Given the description of an element on the screen output the (x, y) to click on. 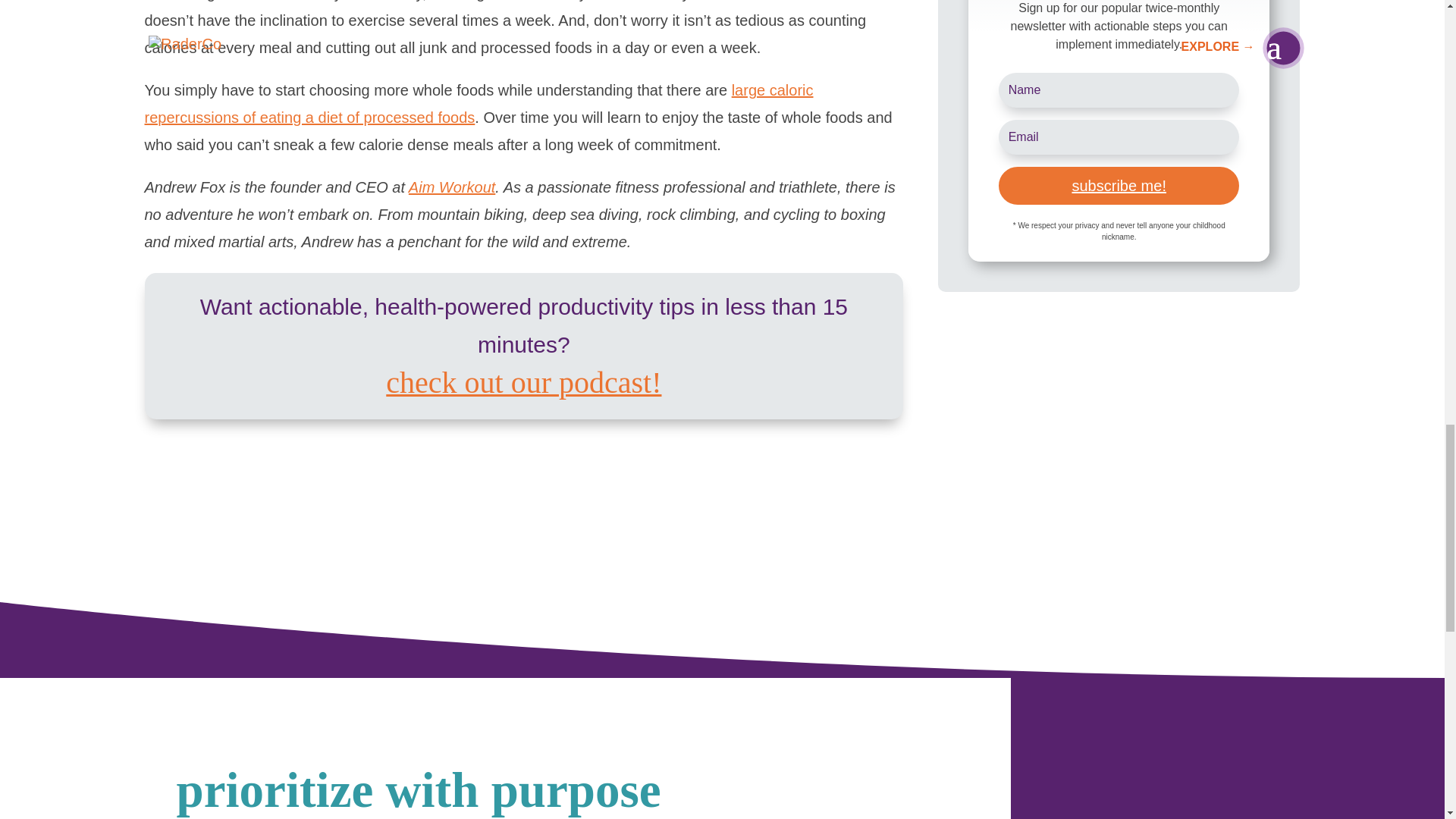
check out our podcast! (523, 384)
subscribe me! (1119, 185)
Aim Workout (452, 187)
